Given the description of an element on the screen output the (x, y) to click on. 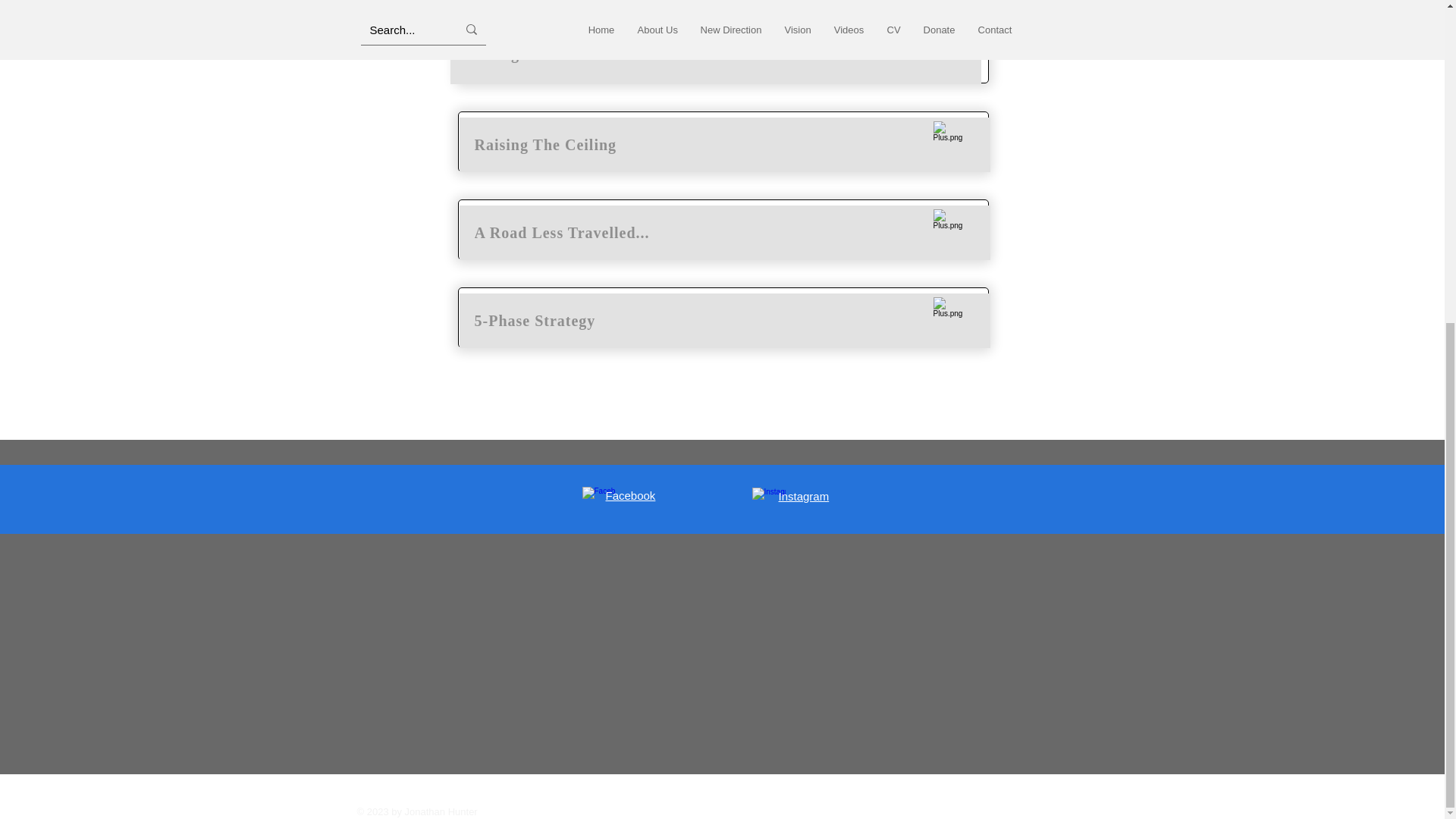
Raising The Floor (715, 53)
Instagram (802, 495)
5-Phase Strategy (725, 320)
Facebook (630, 495)
A Road Less Travelled... (725, 232)
Raising The Ceiling (725, 144)
